Given the description of an element on the screen output the (x, y) to click on. 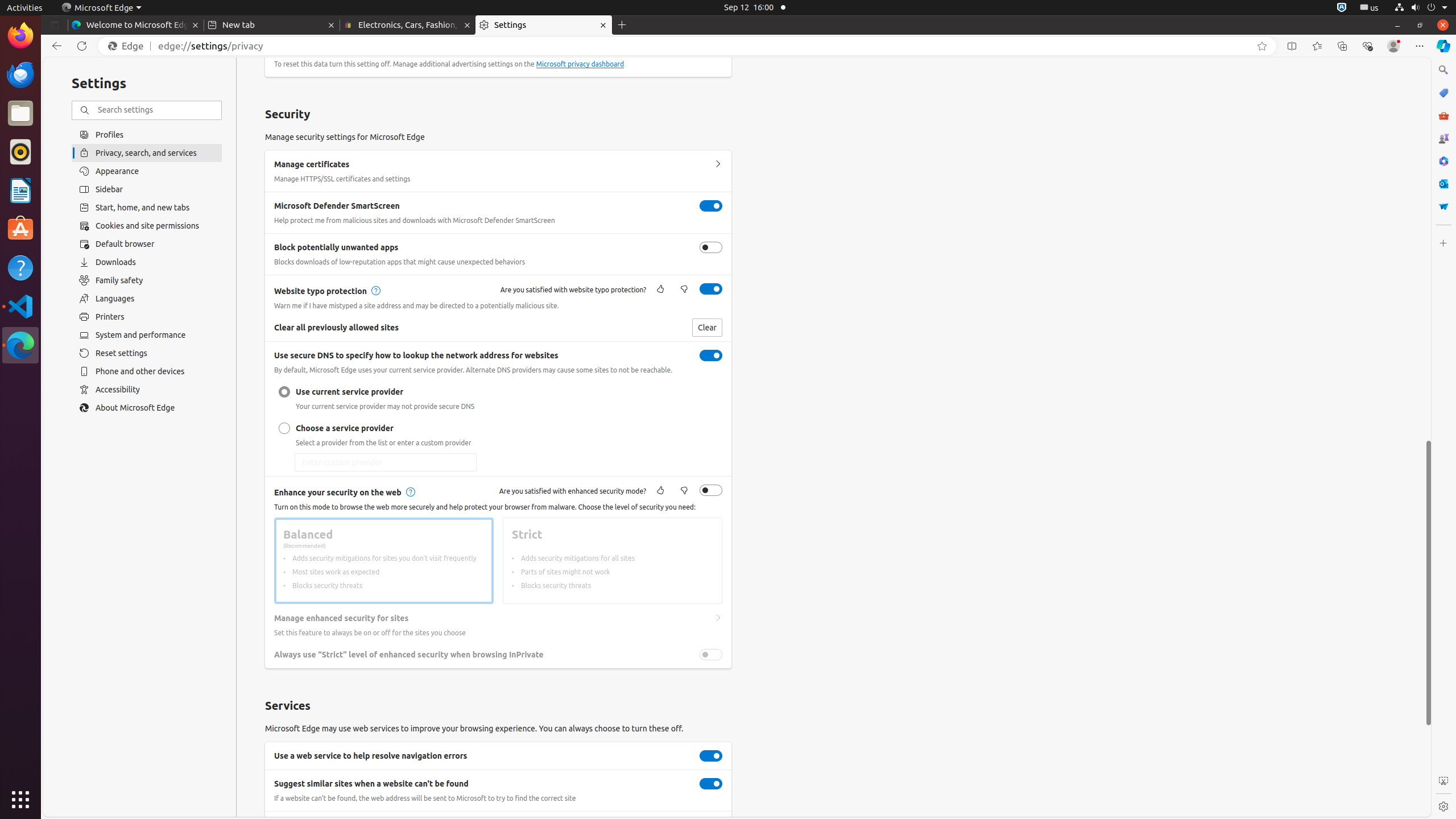
Downloads Element type: tree-item (146, 262)
Microsoft privacy dashboard Element type: link (579, 64)
Sidebar Element type: tree-item (146, 189)
Settings and more (Alt+F) Element type: push-button (1419, 45)
Learn more about enhanced security mode, learn more Element type: push-button (408, 492)
